Given the description of an element on the screen output the (x, y) to click on. 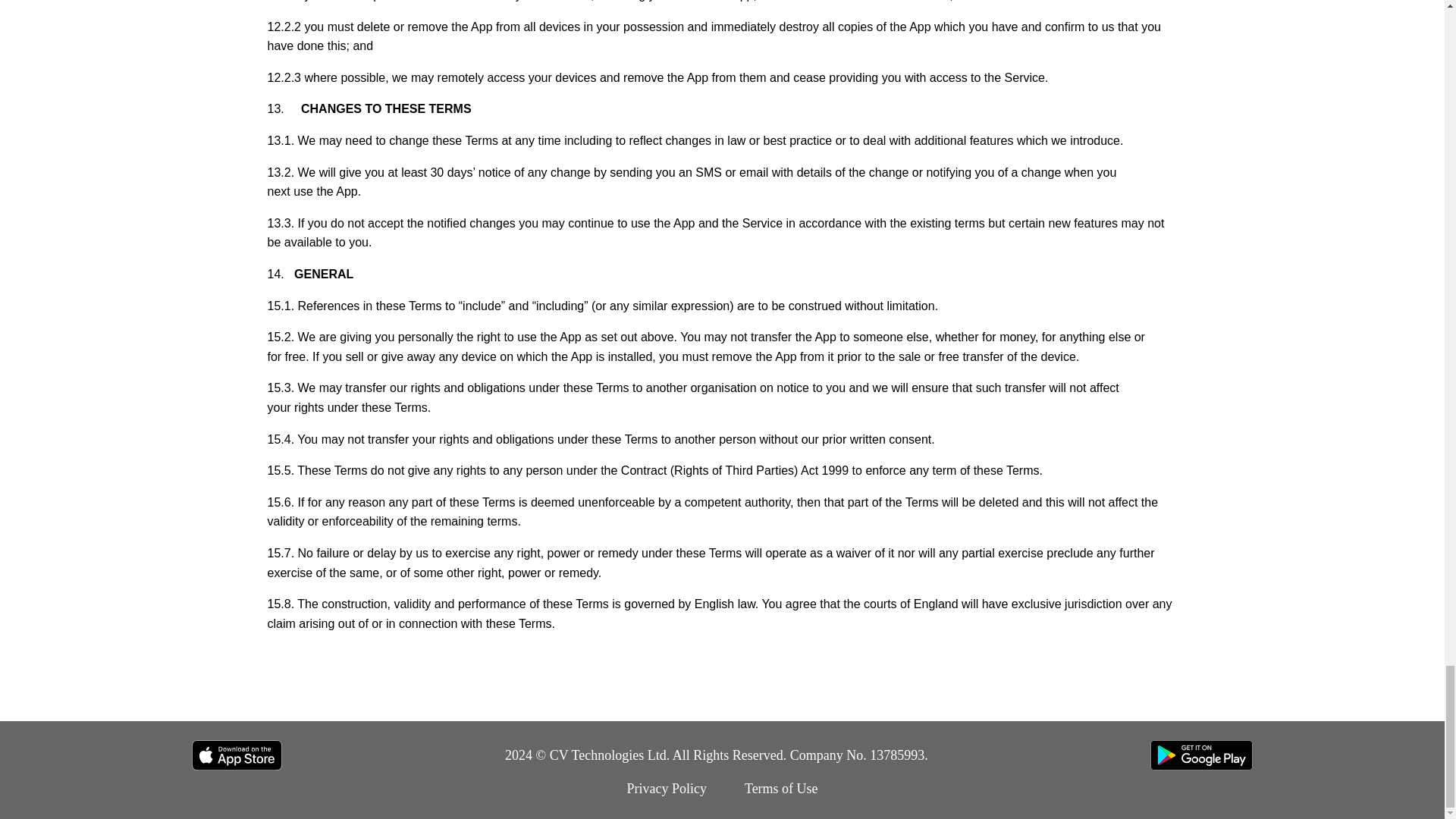
Privacy Policy (666, 789)
Terms of Use (781, 789)
